Given the description of an element on the screen output the (x, y) to click on. 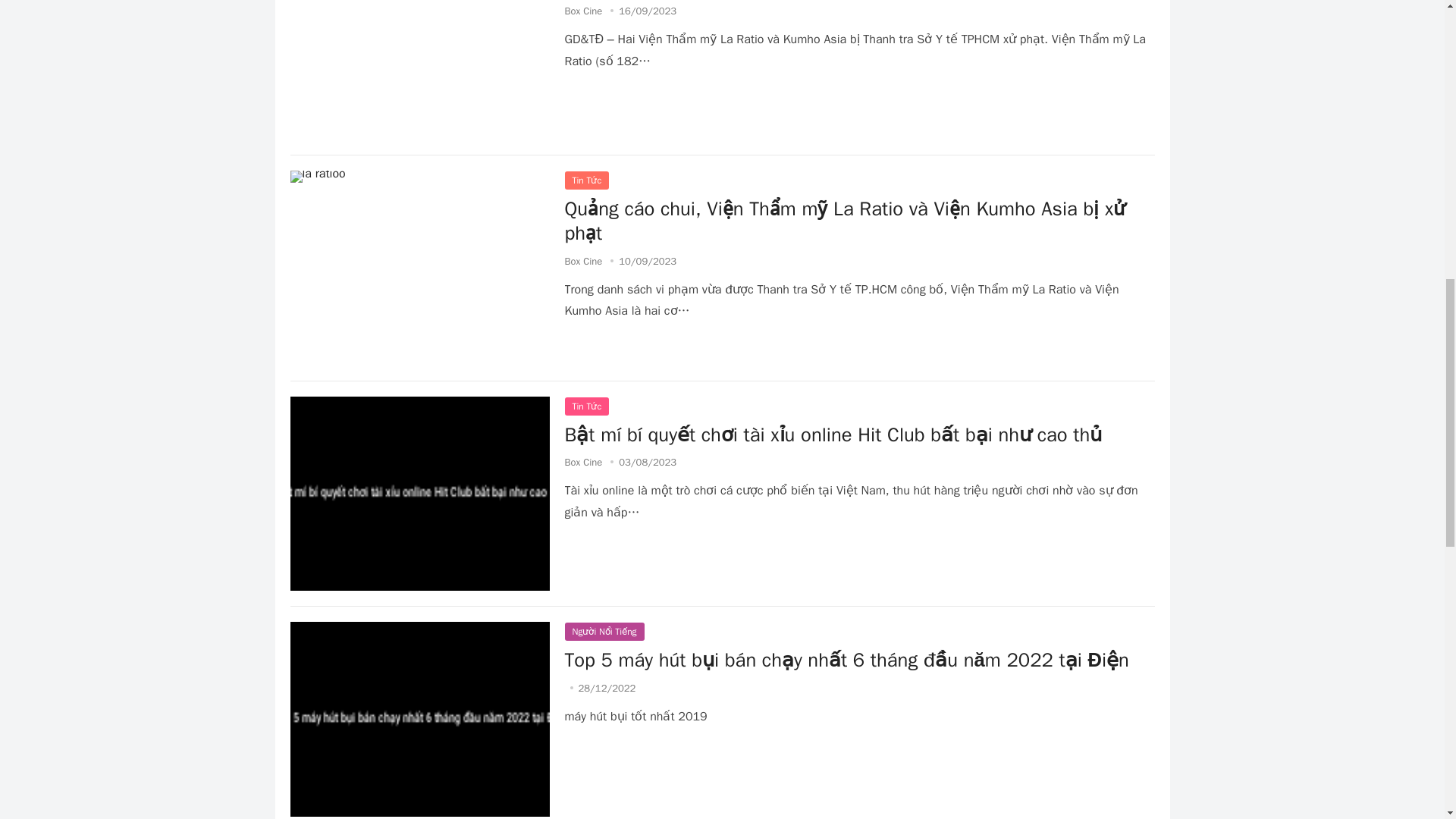
Box Cine (583, 10)
Box Cine (583, 461)
Box Cine (583, 260)
